Given the description of an element on the screen output the (x, y) to click on. 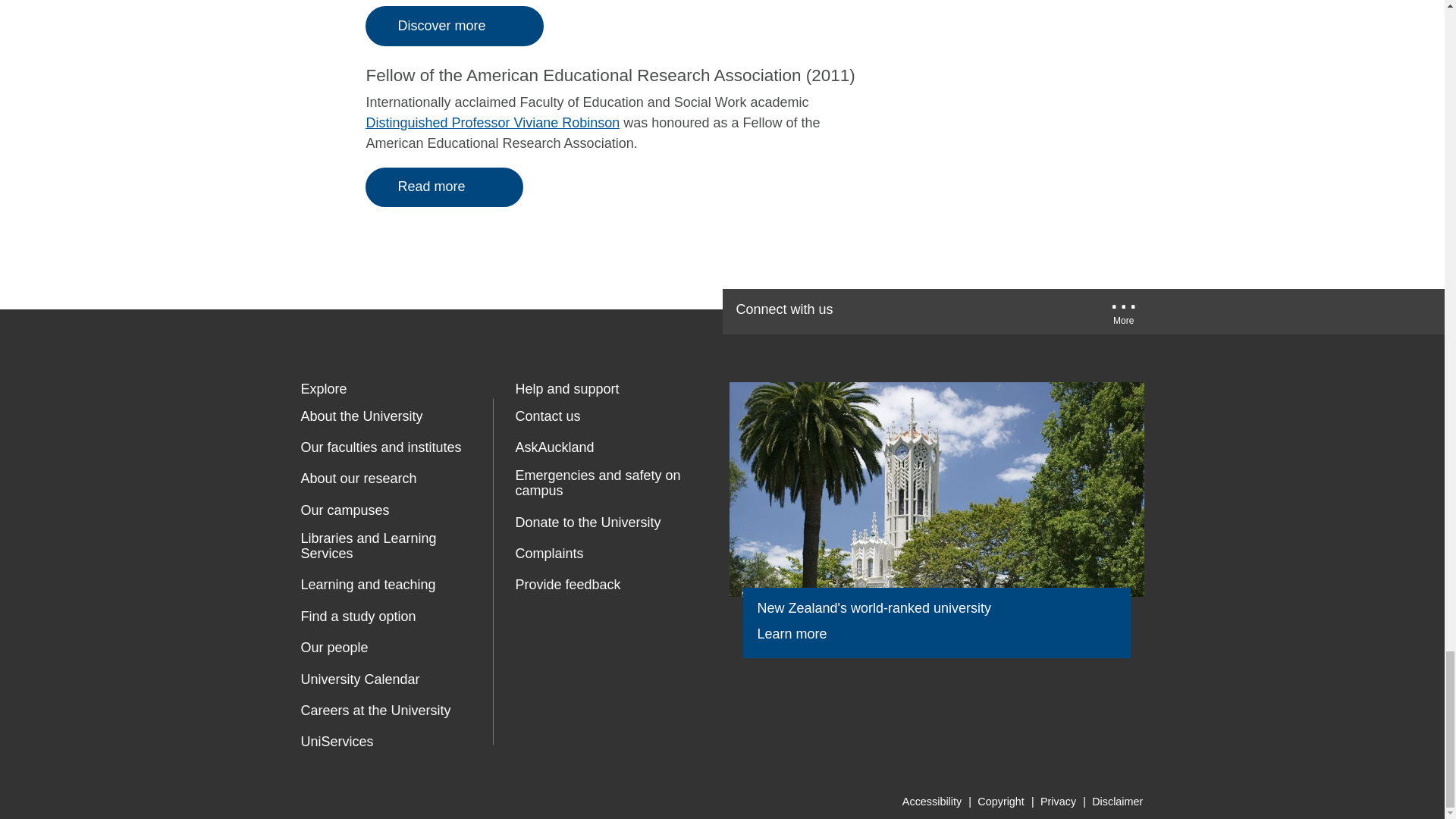
Discover more (454, 25)
Instagram (1069, 311)
University of Auckland More Social... (1123, 316)
YouTube (972, 311)
Read more (443, 187)
Facebook (876, 311)
Twitter (925, 311)
Women's Refuge (528, 649)
LinkedIn (1021, 311)
